Given the description of an element on the screen output the (x, y) to click on. 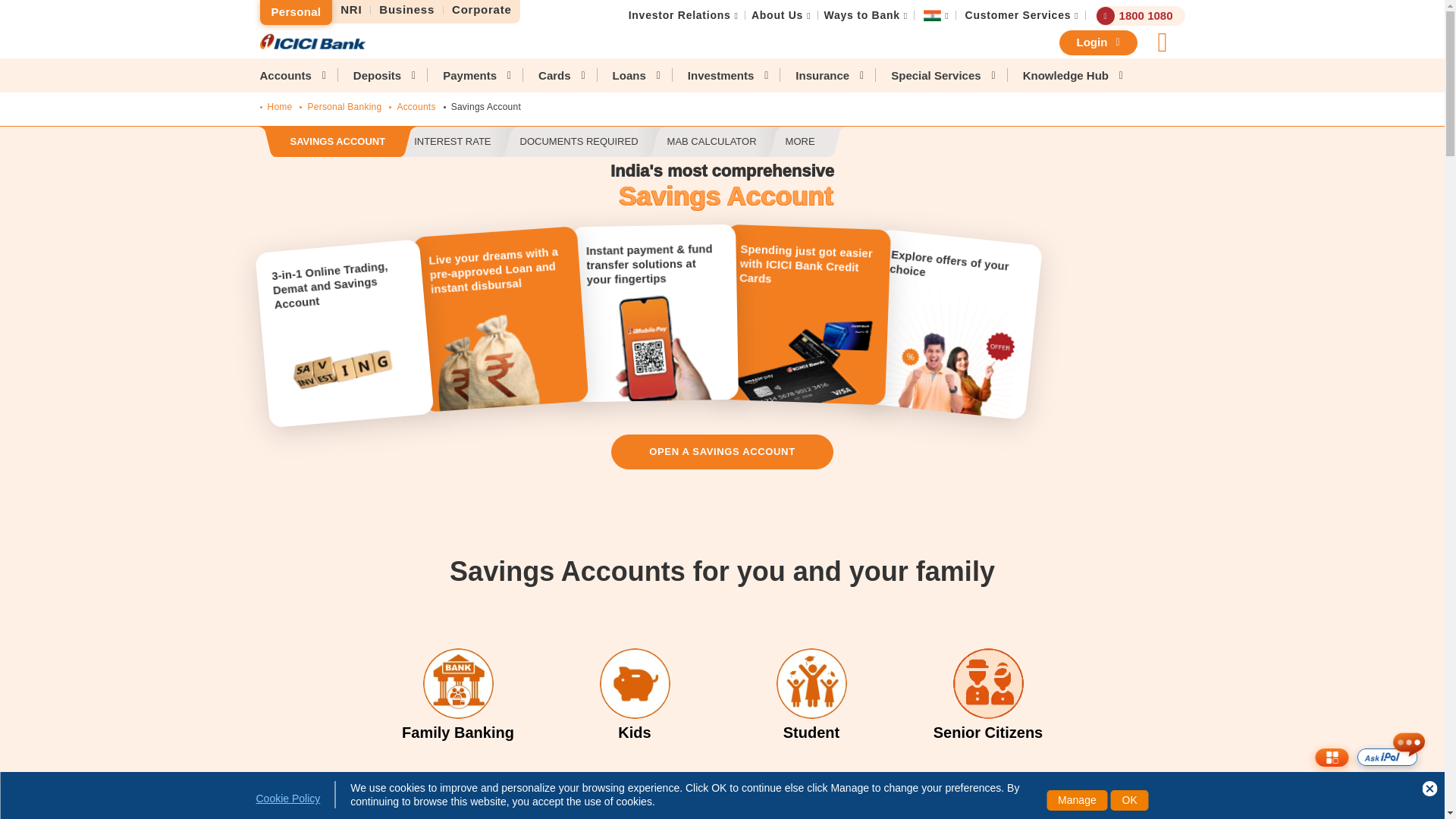
About Us (777, 15)
Personal (295, 12)
Corporate (481, 9)
Investor Relations (679, 15)
Customer Services (1018, 15)
Ways to Bank (861, 15)
Business (407, 9)
NRI (351, 9)
